Given the description of an element on the screen output the (x, y) to click on. 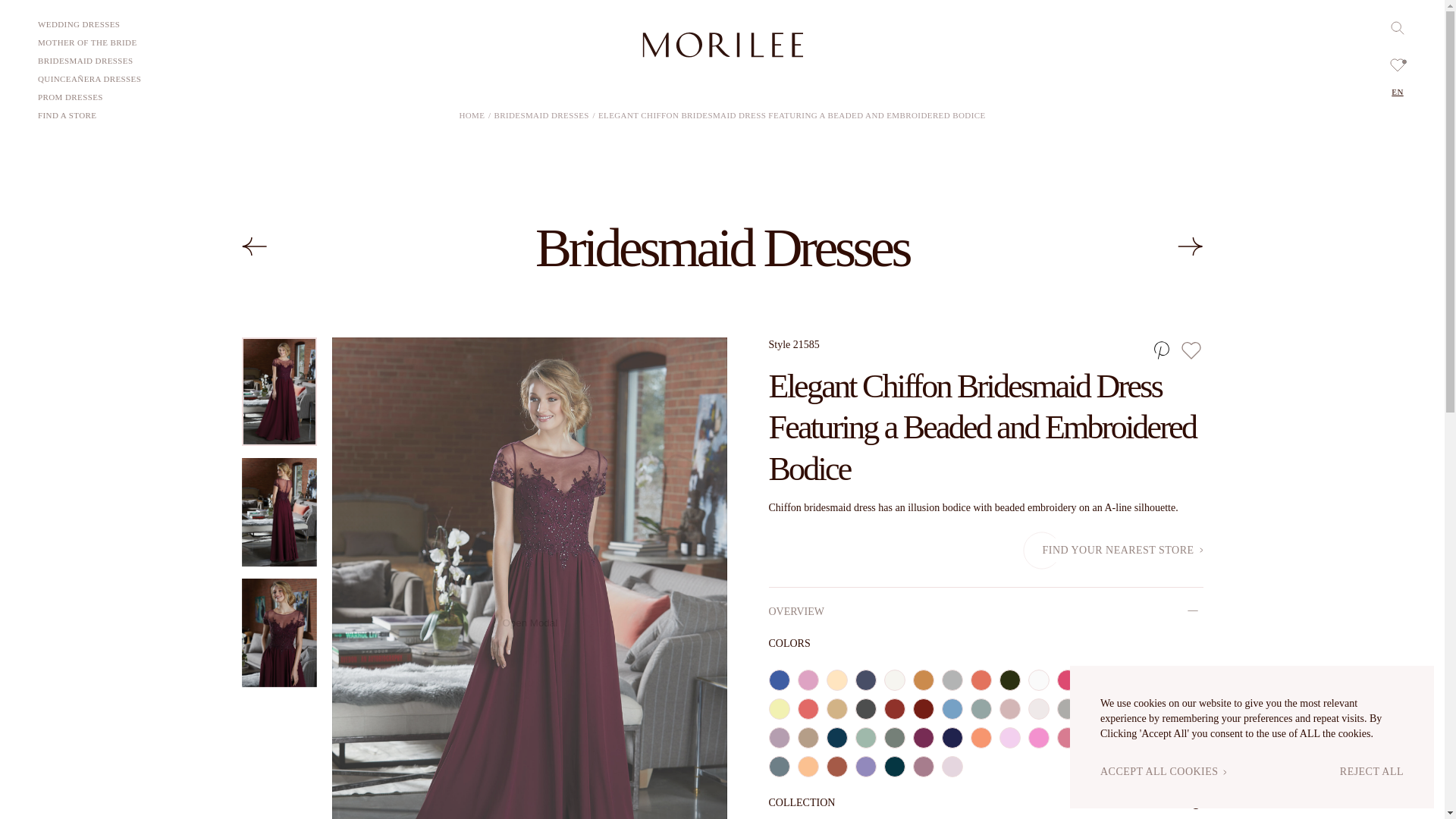
 Black (1096, 680)
WEDDING DRESSES (78, 24)
 Ivory (894, 680)
 Terracotta (981, 680)
HOME (471, 114)
FIND A STORE (66, 113)
ACCEPT ALL COOKIES (1158, 771)
 Cantalope (807, 708)
 Charcoal (866, 708)
 Cinnamon (894, 708)
 Thyme (1009, 680)
 Blush (1153, 680)
FIND YOUR NEAREST STORE (1123, 550)
 White (1038, 680)
 Bloom (807, 680)
